Given the description of an element on the screen output the (x, y) to click on. 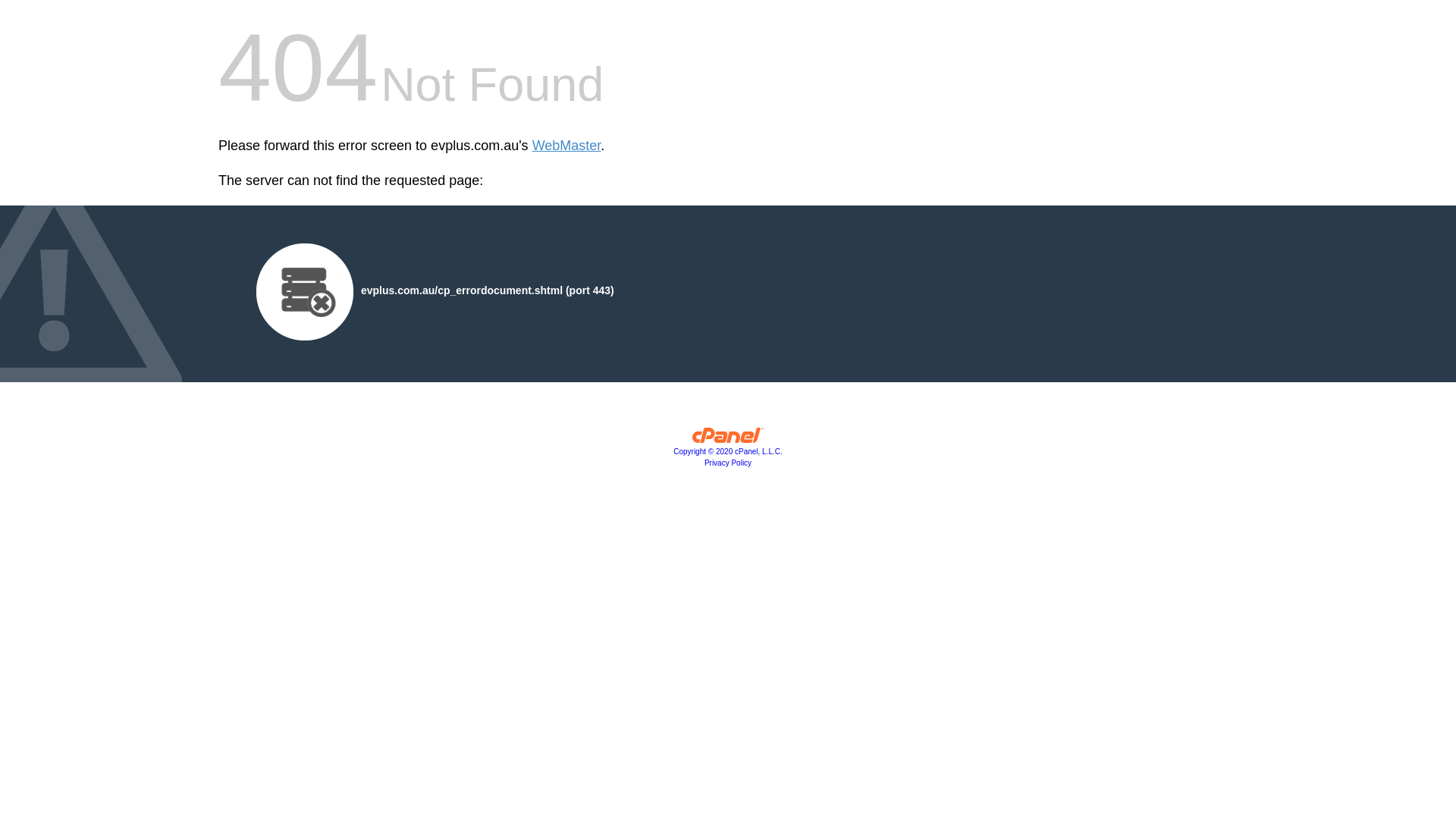
Privacy Policy Element type: text (727, 462)
cPanel, Inc. Element type: hover (728, 439)
WebMaster Element type: text (566, 145)
